Given the description of an element on the screen output the (x, y) to click on. 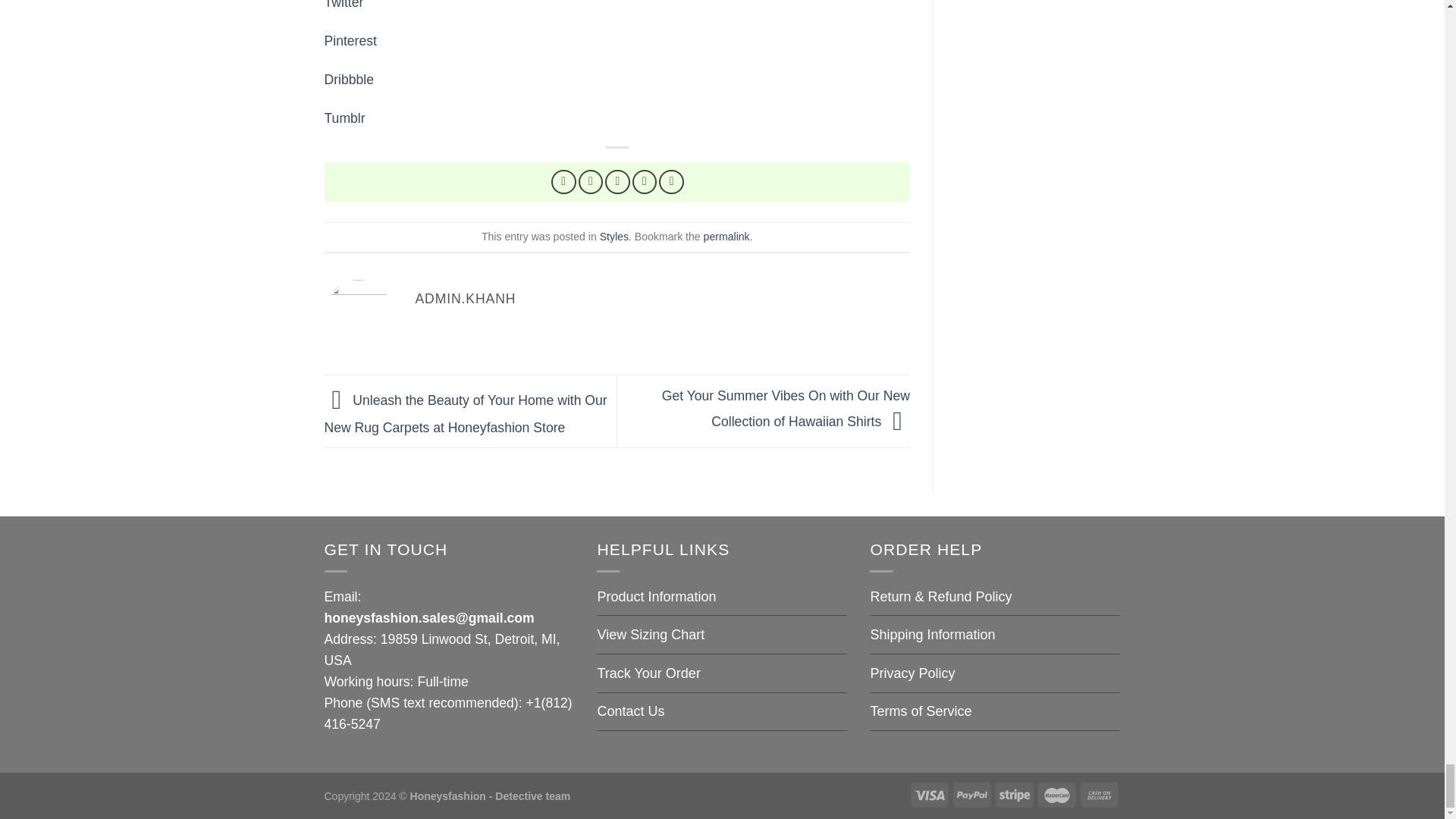
Email to a Friend (617, 181)
Share on Twitter (591, 181)
Share on Facebook (563, 181)
Pin on Pinterest (644, 181)
Share on LinkedIn (671, 181)
